Given the description of an element on the screen output the (x, y) to click on. 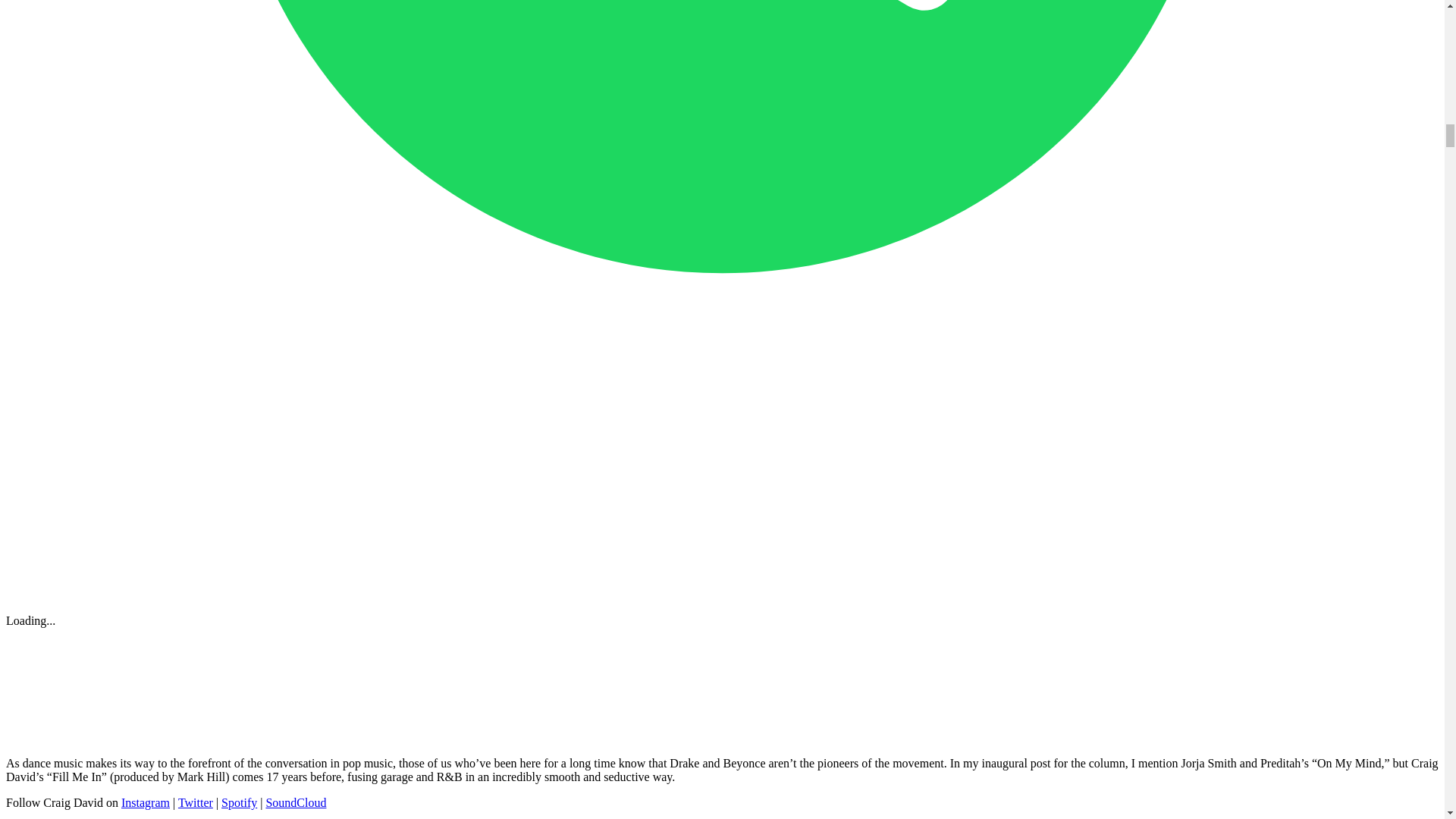
SoundCloud (295, 802)
Instagram (145, 802)
Spotify (239, 802)
Twitter (194, 802)
